Given the description of an element on the screen output the (x, y) to click on. 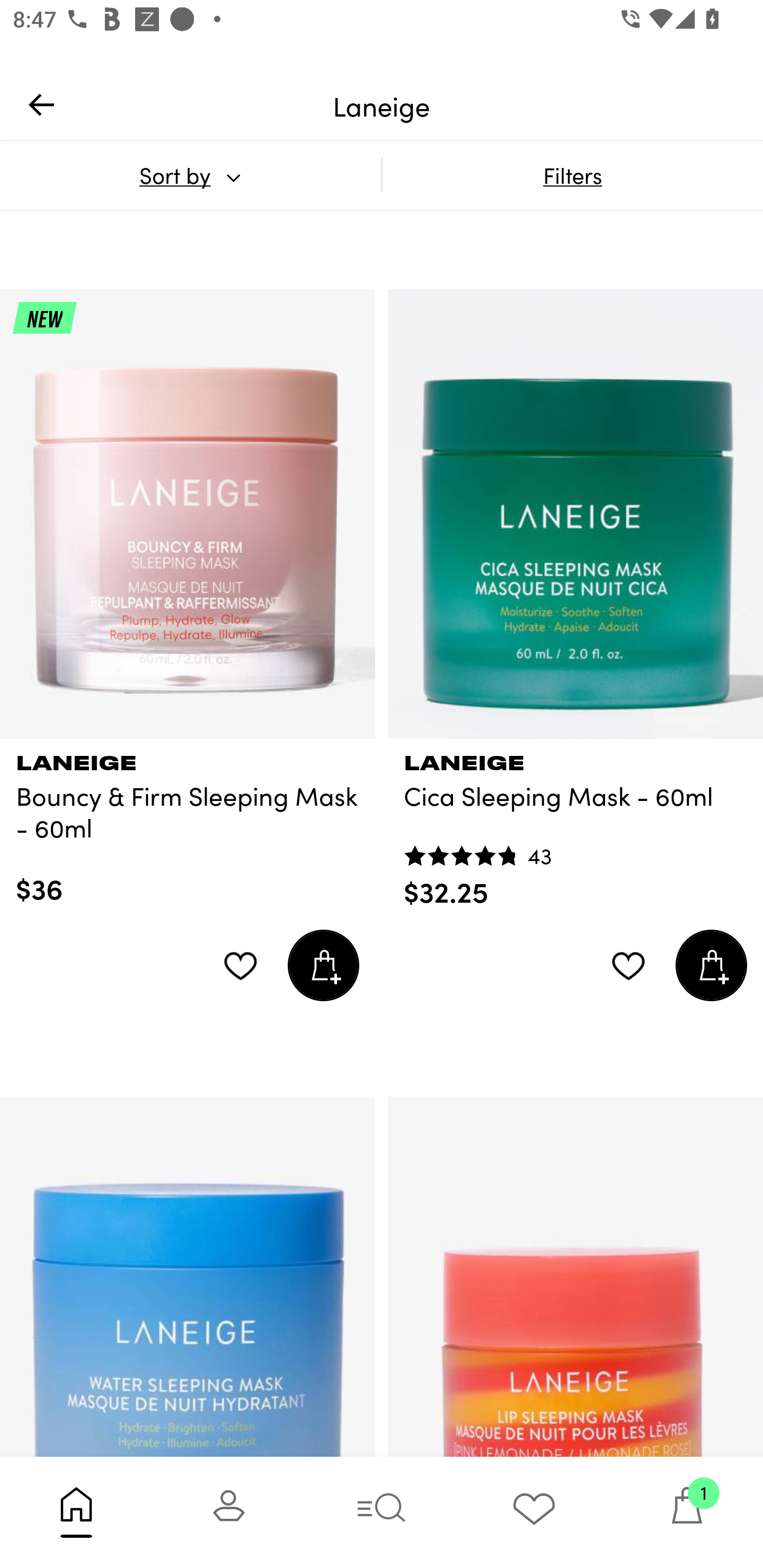
Sort by (190, 174)
Filters (572, 174)
LANEIGE Bouncy & Firm Sleeping Mask - 60ml $36 (187, 822)
LANEIGE Cica Sleeping Mask - 60ml 43 $32.25 (575, 824)
1 (686, 1512)
